Given the description of an element on the screen output the (x, y) to click on. 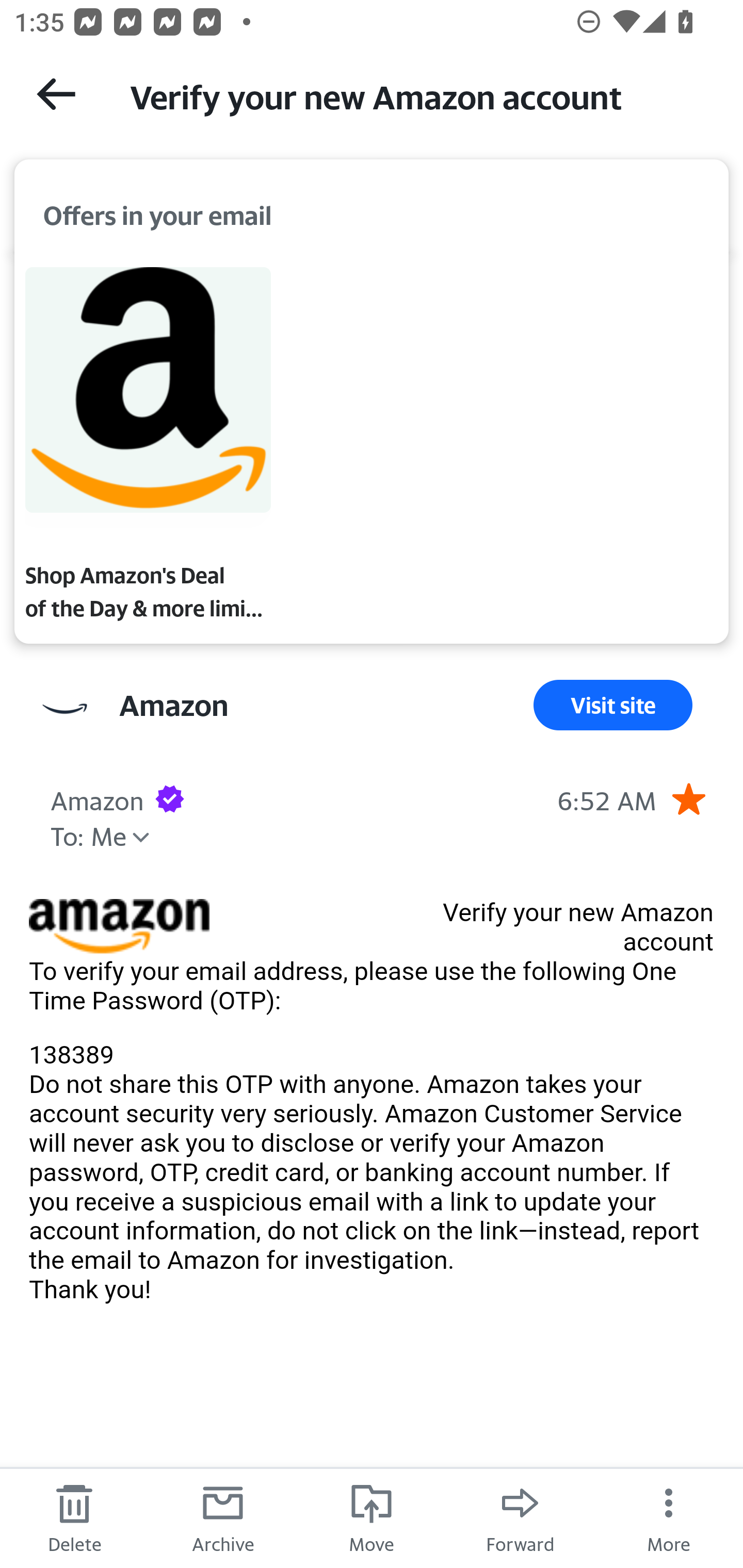
Back (55, 93)
Verify your new Amazon account (418, 94)
View all messages from sender (64, 708)
Visit site Visit Site Link (612, 705)
Amazon Sender Amazon (173, 705)
Amazon Sender Amazon (97, 798)
Remove star. (688, 798)
Delete (74, 1517)
Archive (222, 1517)
Move (371, 1517)
Forward (519, 1517)
More (668, 1517)
